Given the description of an element on the screen output the (x, y) to click on. 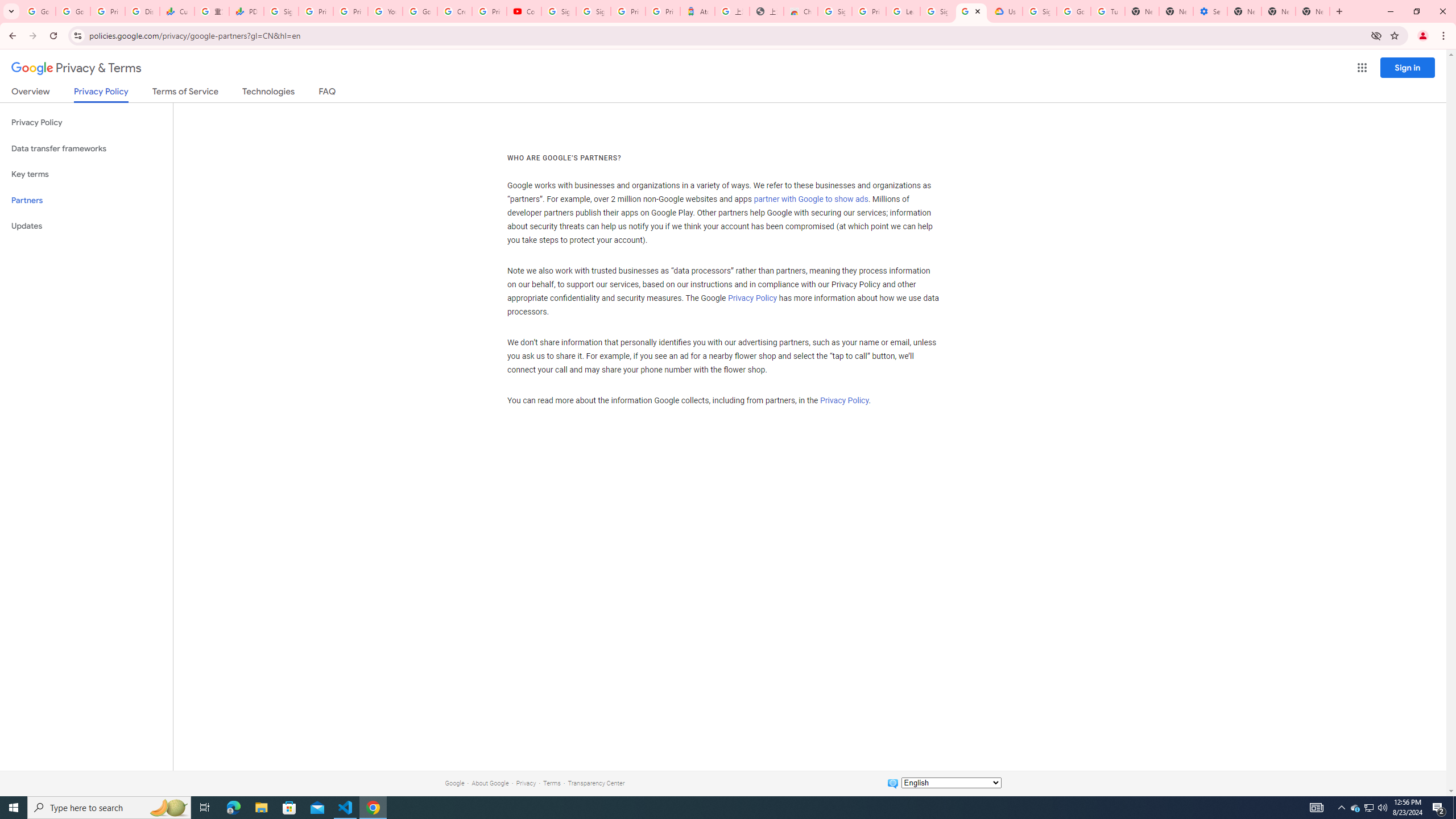
Google Workspace Admin Community (38, 11)
YouTube (384, 11)
Sign in - Google Accounts (937, 11)
Privacy & Terms (76, 68)
Data transfer frameworks (86, 148)
Create your Google Account (454, 11)
